Given the description of an element on the screen output the (x, y) to click on. 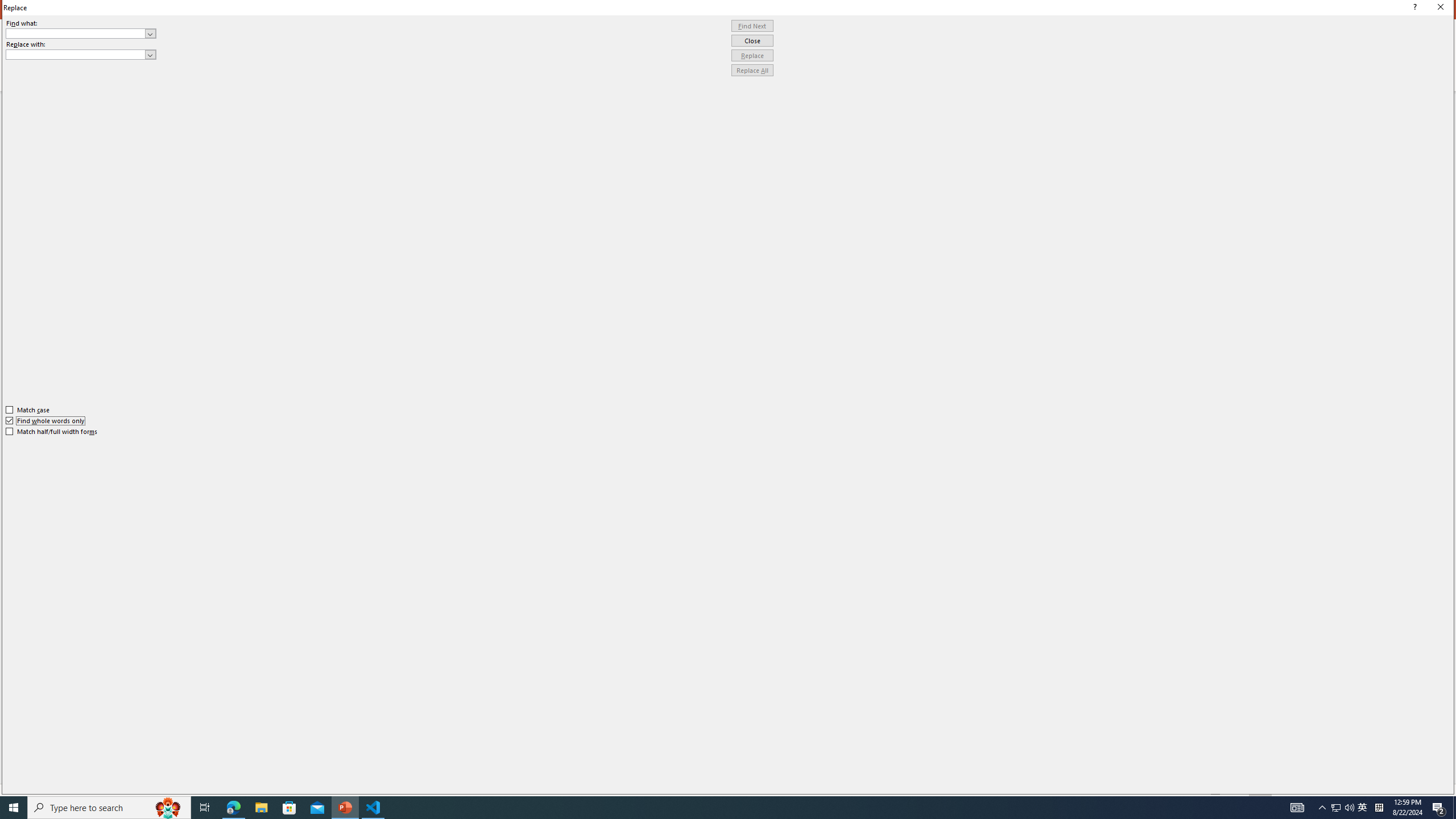
Replace (752, 55)
Match case (27, 409)
Replace with (75, 53)
Replace with (80, 54)
Find whole words only (45, 420)
Replace All (752, 69)
Match half/full width forms (52, 431)
Context help (1413, 8)
Find Next (752, 25)
Find what (75, 33)
Find what (80, 33)
